Given the description of an element on the screen output the (x, y) to click on. 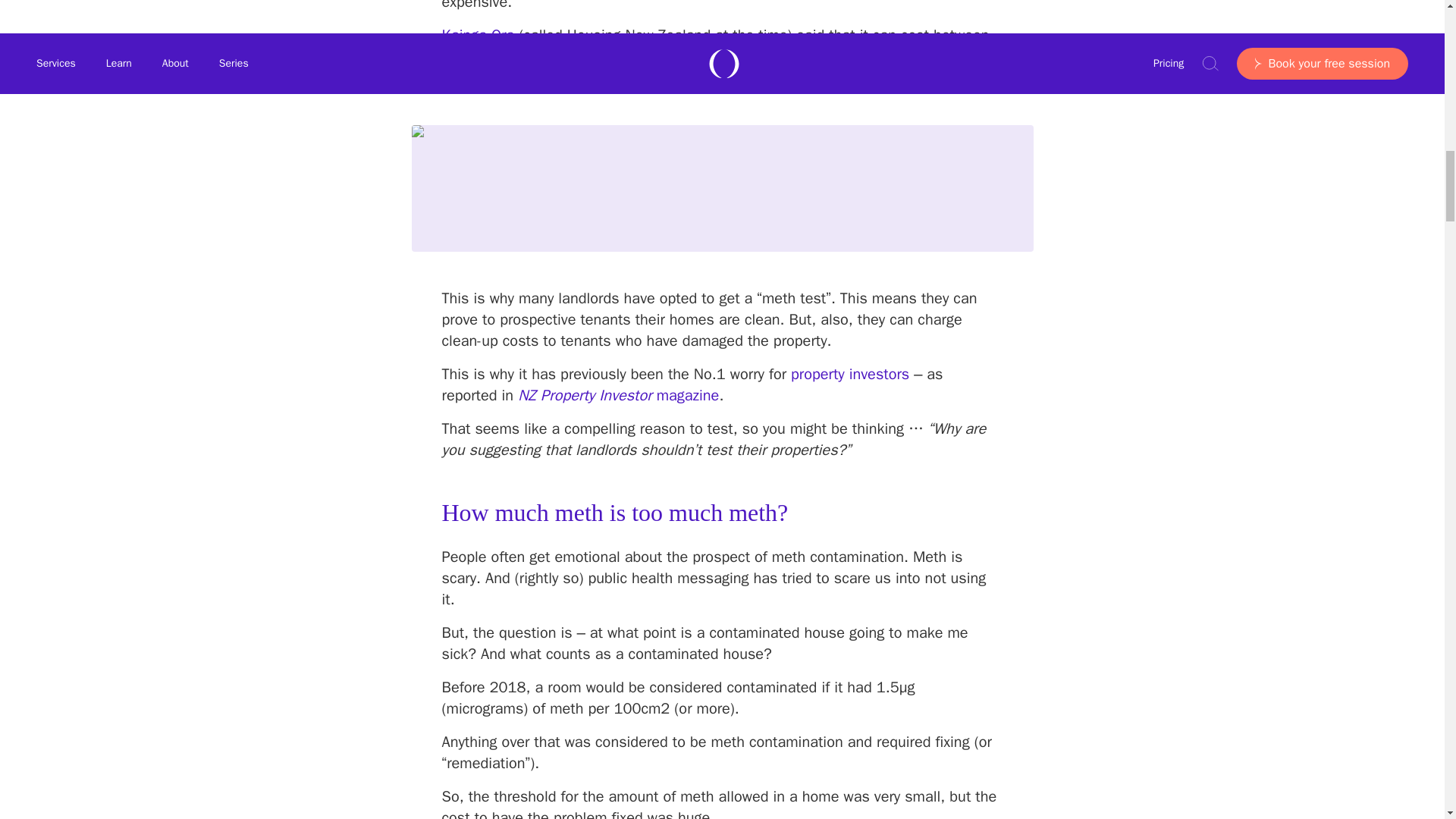
Email (594, 548)
